Given the description of an element on the screen output the (x, y) to click on. 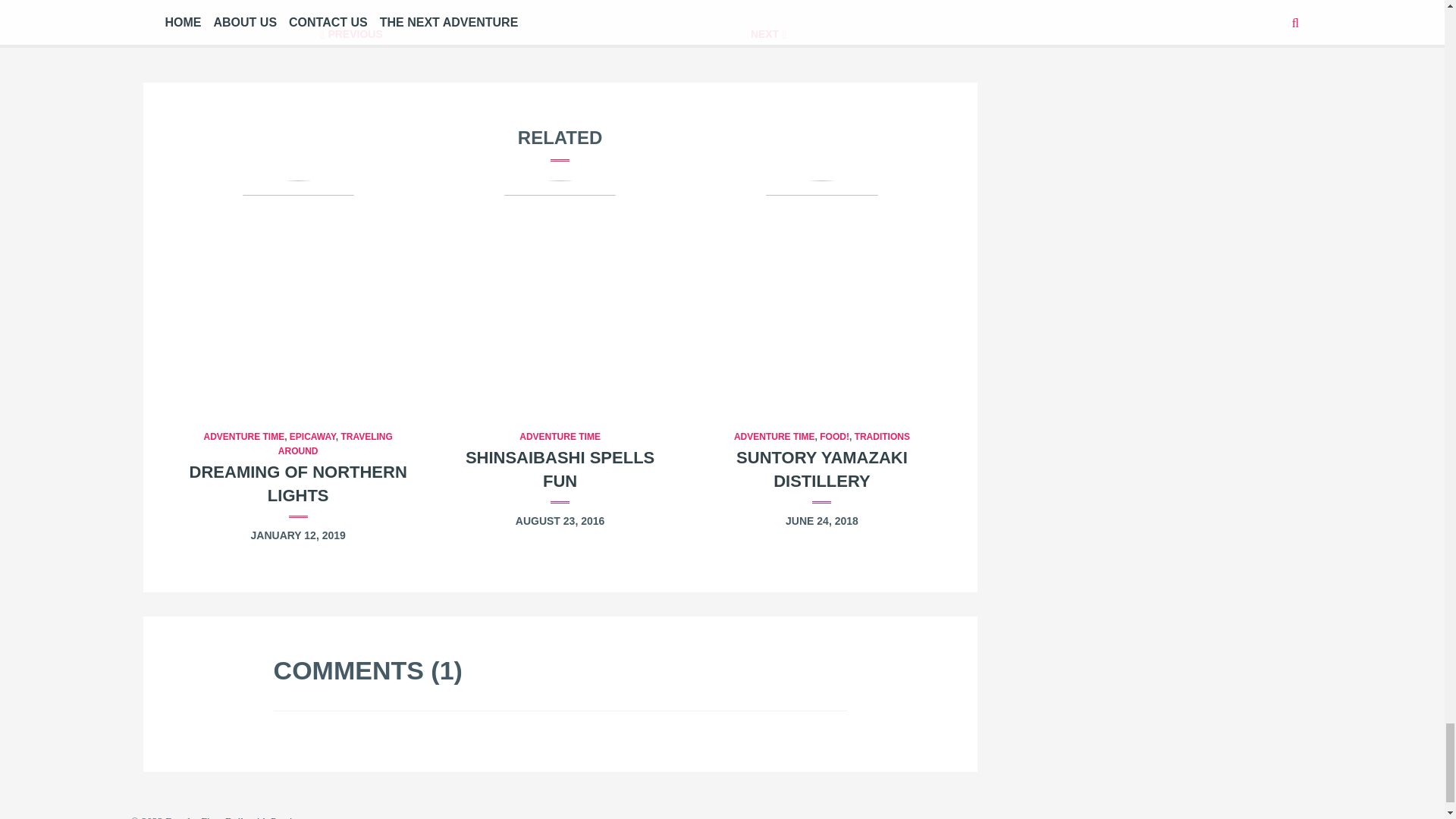
TRADITIONS (882, 436)
TRAVELING AROUND (335, 443)
Dreaming of Northern Lights (298, 483)
Dreaming of Northern Lights (297, 292)
Suntory Yamazaki Distillery (821, 468)
Shinsaibashi Spells Fun (559, 468)
DREAMING OF NORTHERN LIGHTS (298, 483)
Suntory Yamazaki Distillery (821, 292)
ADVENTURE TIME (243, 436)
NEXT (768, 33)
